Given the description of an element on the screen output the (x, y) to click on. 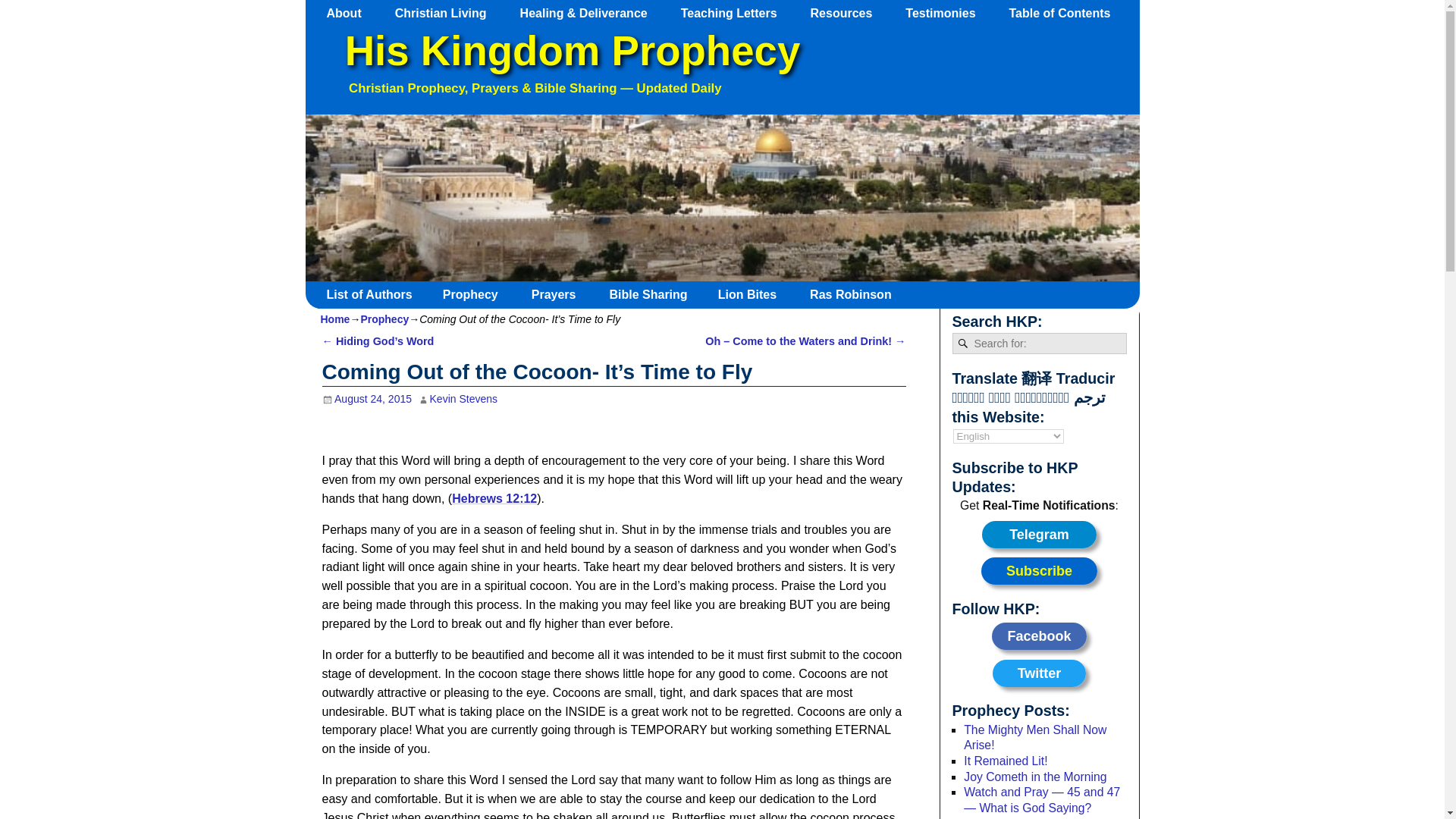
Testimonies (947, 13)
Resources (849, 13)
His Kingdom Prophecy (571, 50)
View all posts by Kevin Stevens (463, 398)
Table of Contents (1066, 13)
About (351, 13)
List of Authors (374, 294)
6:24 pm (366, 398)
His Kingdom Prophecy (571, 50)
Teaching Letters (736, 13)
Christian Living (448, 13)
